Given the description of an element on the screen output the (x, y) to click on. 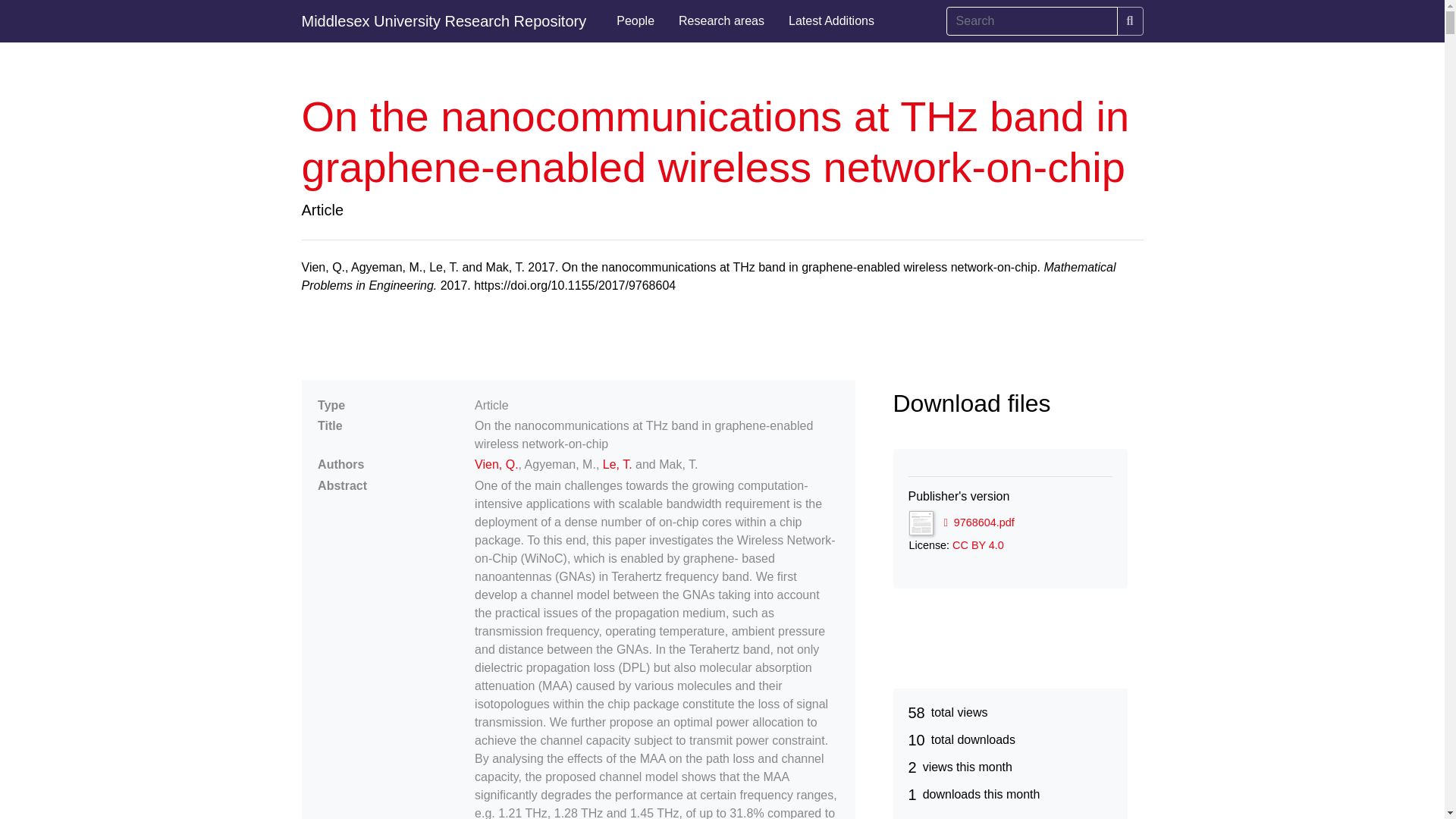
Le, T. (616, 463)
9768604.pdf (978, 522)
Research areas (721, 21)
CC BY 4.0 (978, 544)
Latest Additions (831, 21)
People (635, 21)
Middlesex University Research Repository (443, 20)
Vien, Q. (496, 463)
